Given the description of an element on the screen output the (x, y) to click on. 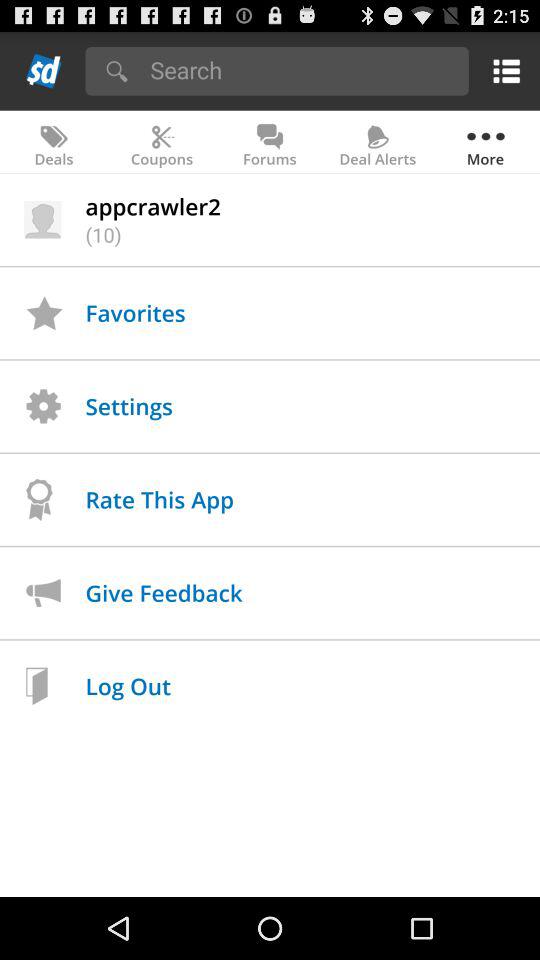
app logo (44, 70)
